Given the description of an element on the screen output the (x, y) to click on. 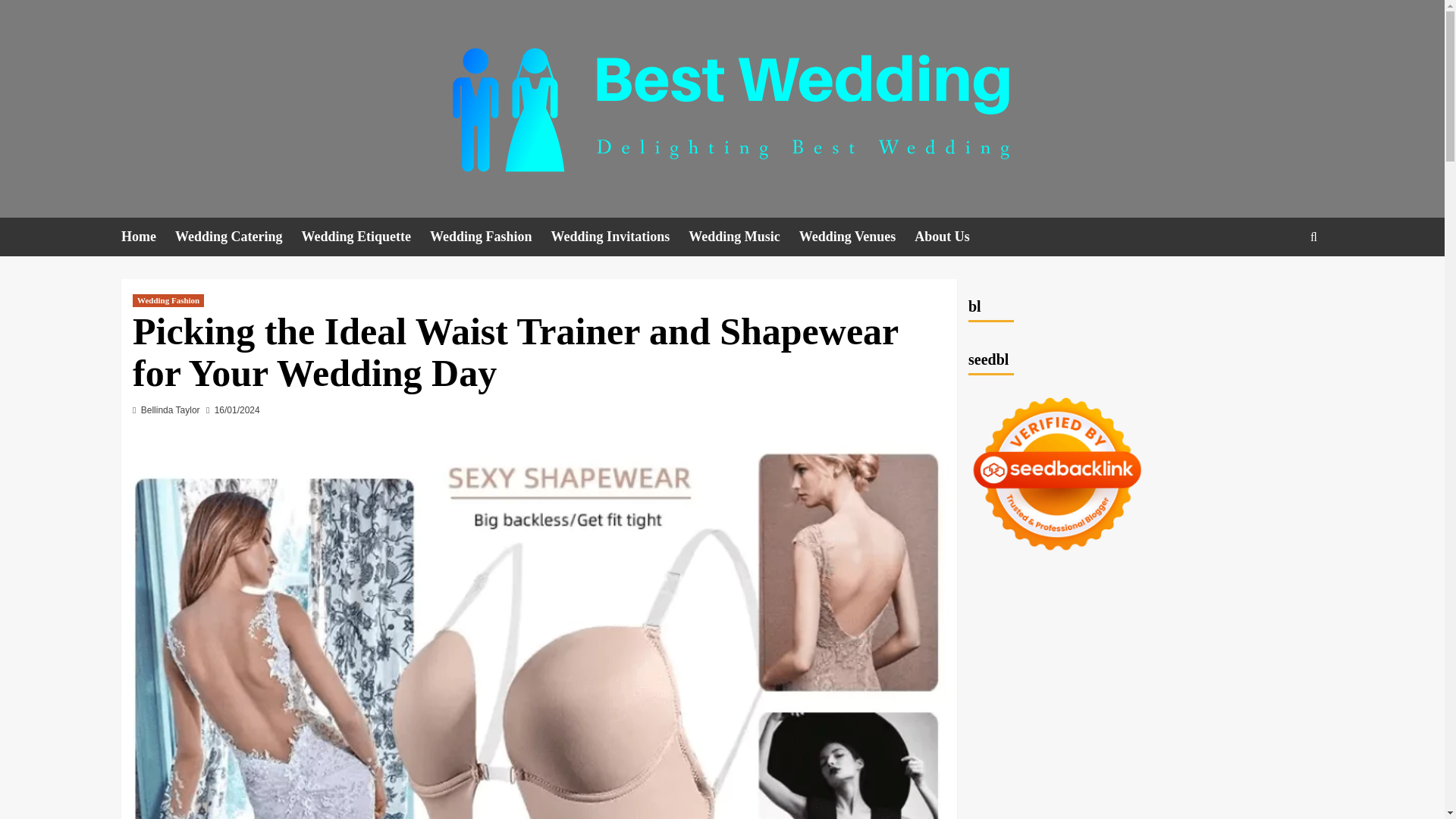
Wedding Invitations (619, 236)
Wedding Fashion (490, 236)
About Us (951, 236)
Wedding Fashion (167, 300)
Wedding Venues (857, 236)
Wedding Etiquette (365, 236)
Home (147, 236)
Wedding Catering (237, 236)
Wedding Music (743, 236)
